Given the description of an element on the screen output the (x, y) to click on. 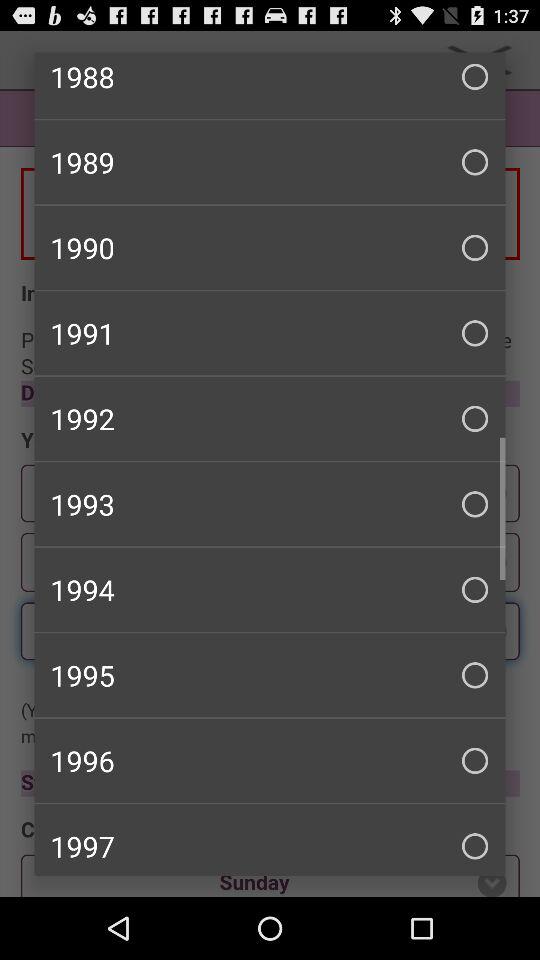
turn off the checkbox above the 1990 item (269, 162)
